Given the description of an element on the screen output the (x, y) to click on. 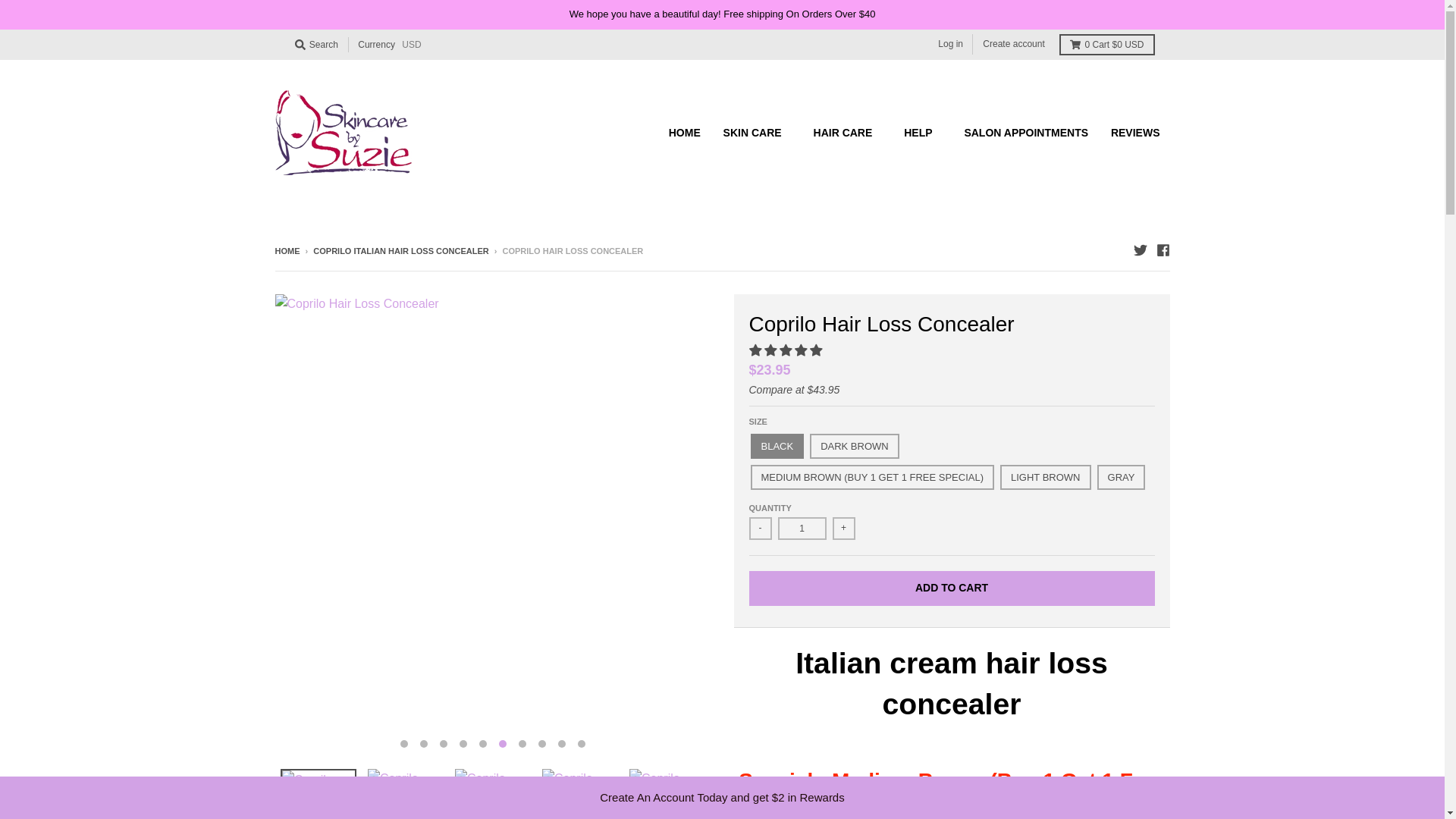
Back to the frontpage (287, 250)
Black (778, 446)
Create account (1013, 44)
SKIN CARE (756, 132)
Light Brown (1045, 477)
Log in (950, 44)
Dark Brown (854, 446)
Facebook - Skin Care By Suzie (1162, 250)
Search (315, 44)
1 (802, 527)
Twitter - Skin Care By Suzie (1139, 250)
HOME (684, 132)
